Given the description of an element on the screen output the (x, y) to click on. 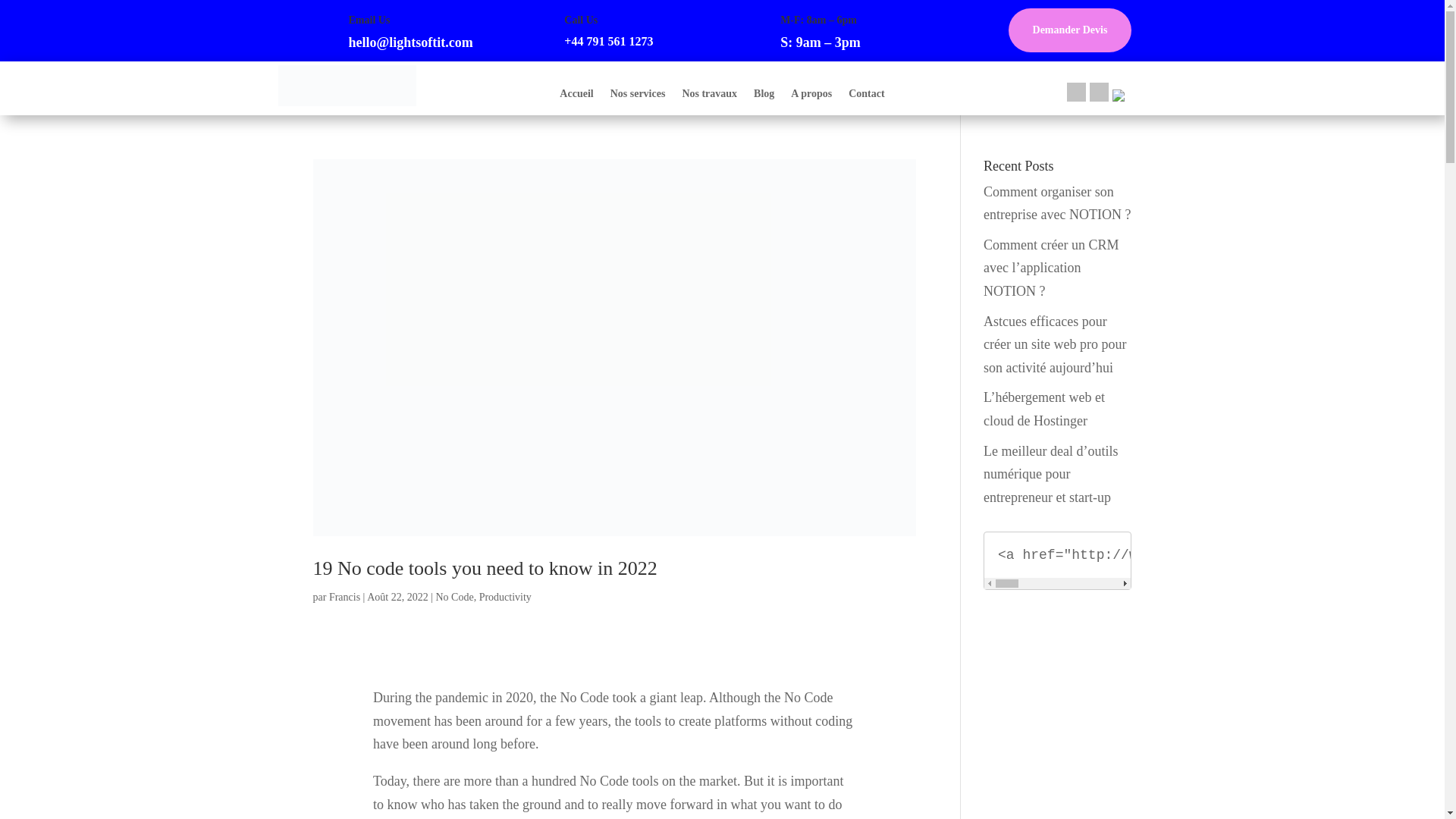
Accueil (575, 96)
Productivity (505, 596)
Francis (344, 596)
Contact (865, 96)
Demander Devis (1070, 30)
A propos (810, 96)
Articles de Francis (344, 596)
Nos travaux (708, 96)
No Code (454, 596)
19 No code tools you need to know in 2022 (484, 568)
